Given the description of an element on the screen output the (x, y) to click on. 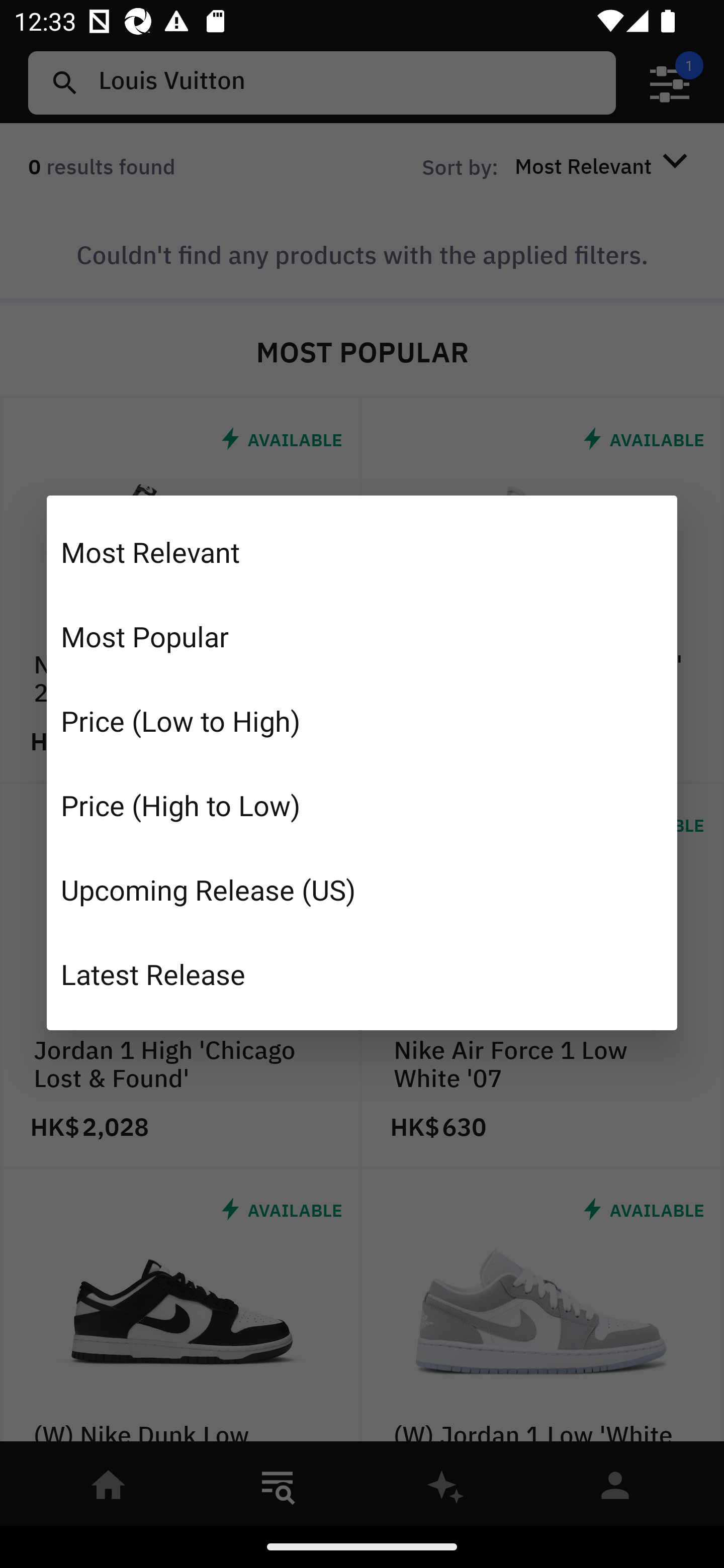
Most Relevant (361, 551)
Most Popular (361, 636)
Price (Low to High) (361, 720)
Price (High to Low) (361, 804)
Upcoming Release (US) (361, 888)
Latest Release (361, 973)
